Given the description of an element on the screen output the (x, y) to click on. 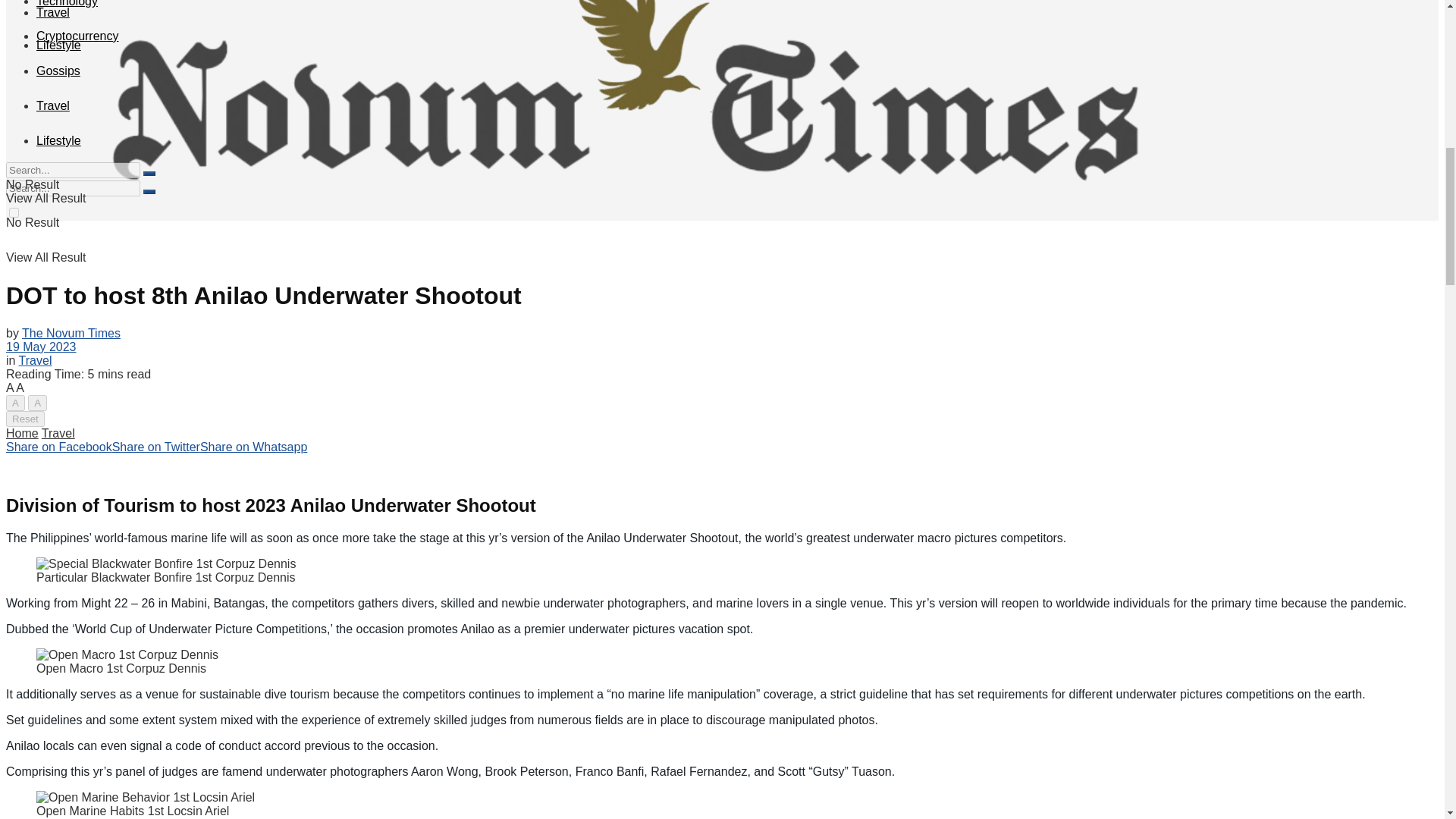
Lifestyle (58, 44)
Travel (52, 11)
on (13, 212)
